Given the description of an element on the screen output the (x, y) to click on. 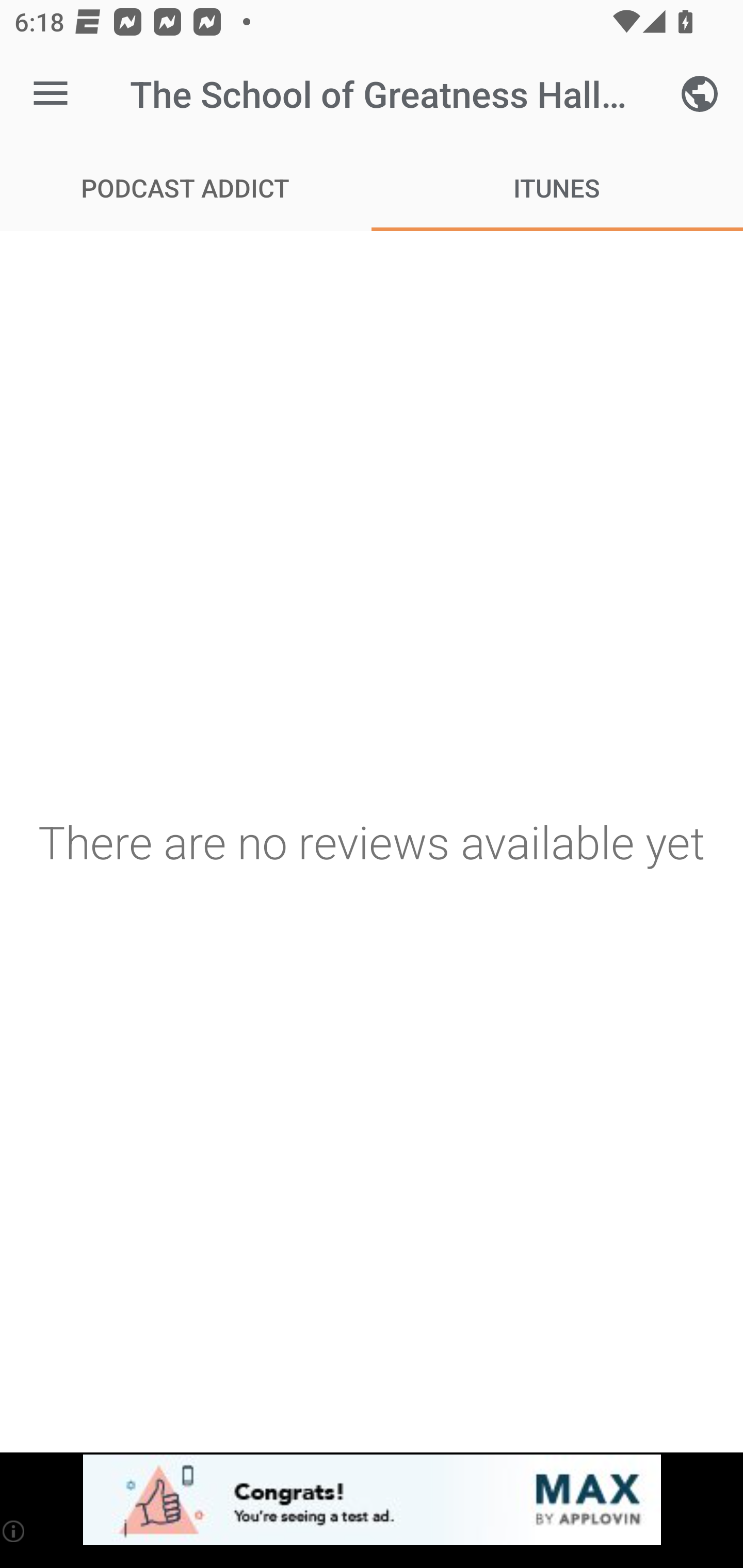
Open navigation sidebar (50, 93)
Select a country... (699, 93)
Podcast Addict PODCAST ADDICT (185, 187)
app-monetization (371, 1500)
(i) (14, 1531)
